Given the description of an element on the screen output the (x, y) to click on. 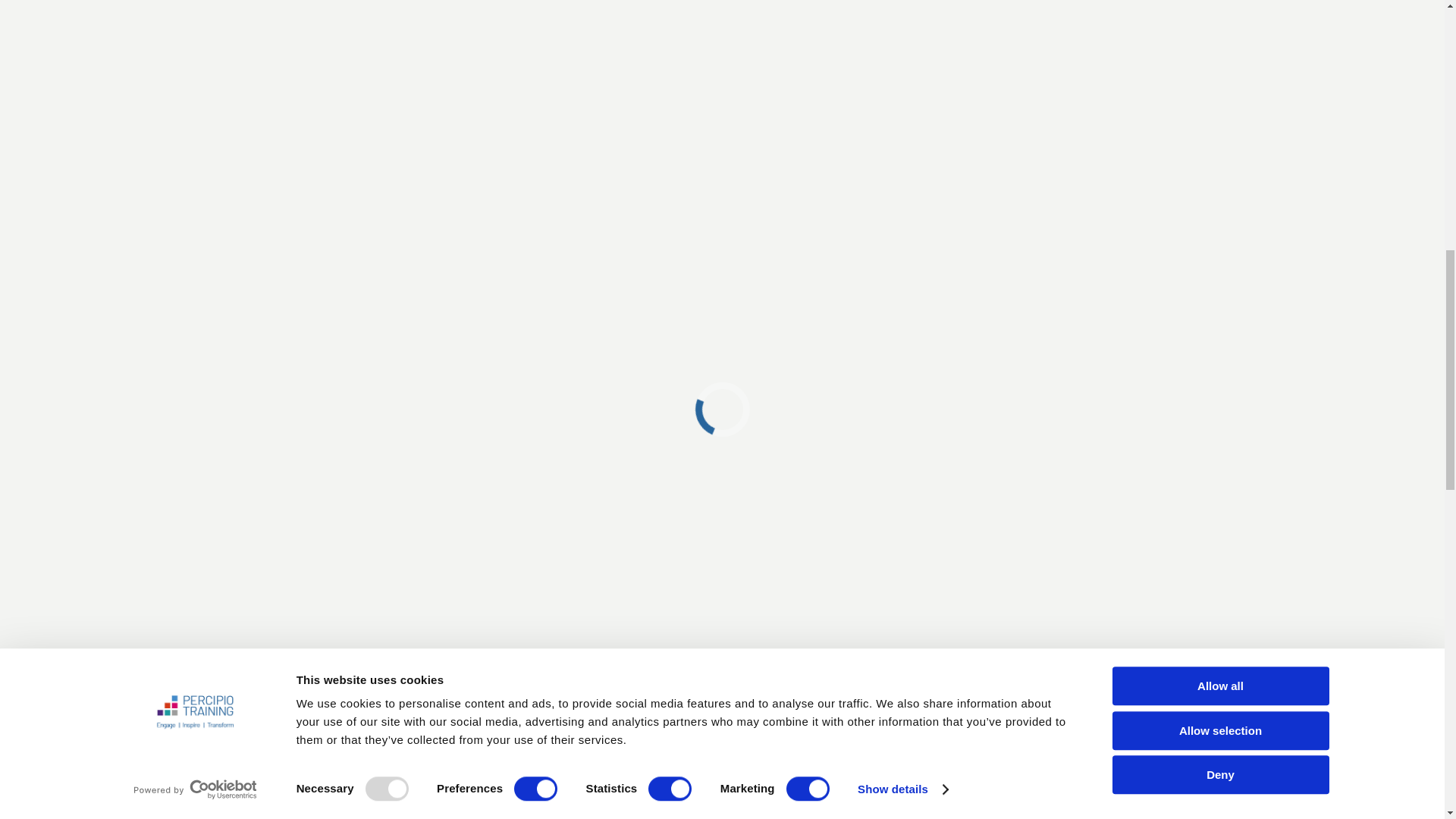
3:14 pm (632, 646)
